Given the description of an element on the screen output the (x, y) to click on. 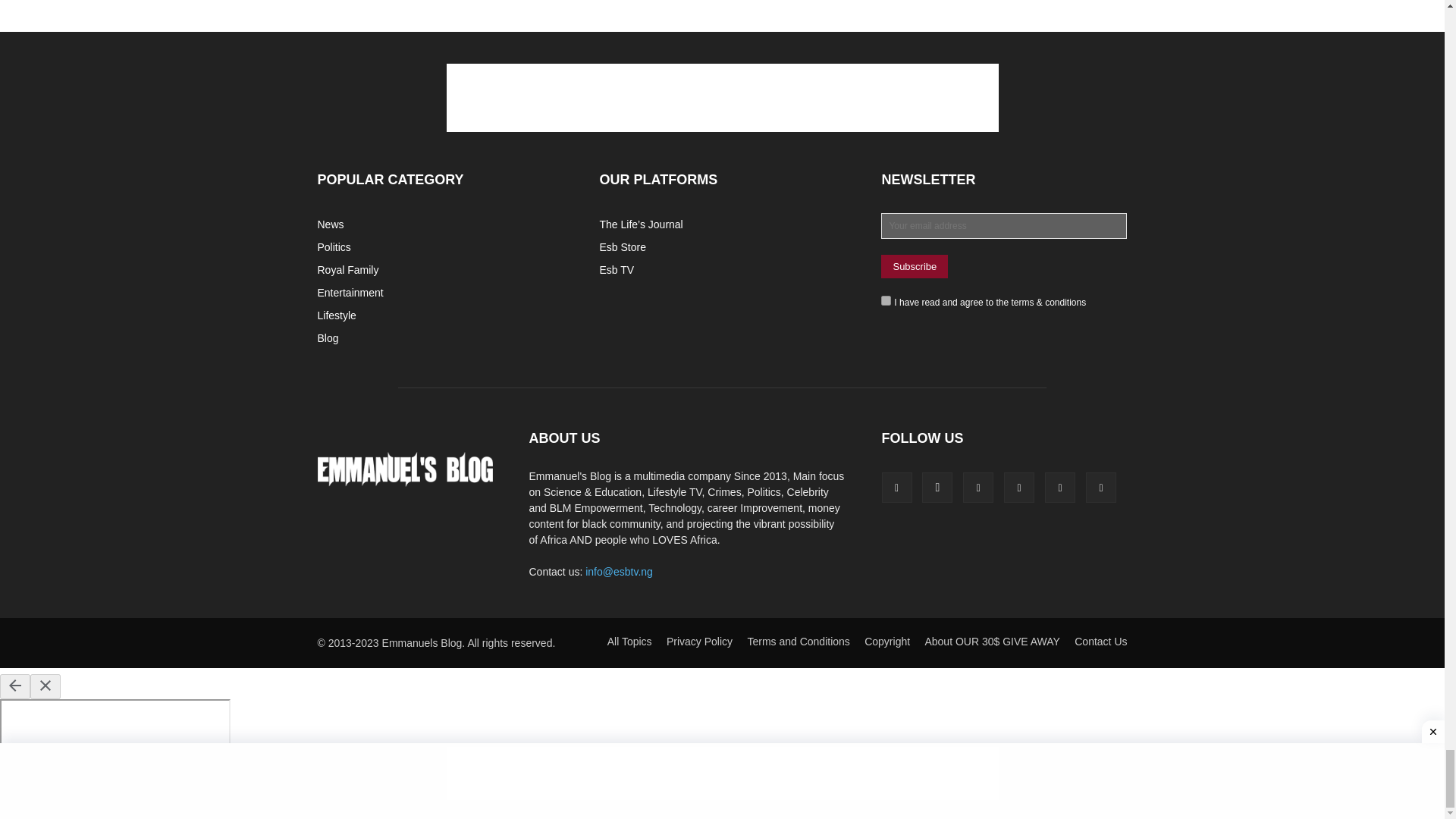
1 (885, 300)
Subscribe (913, 266)
